Given the description of an element on the screen output the (x, y) to click on. 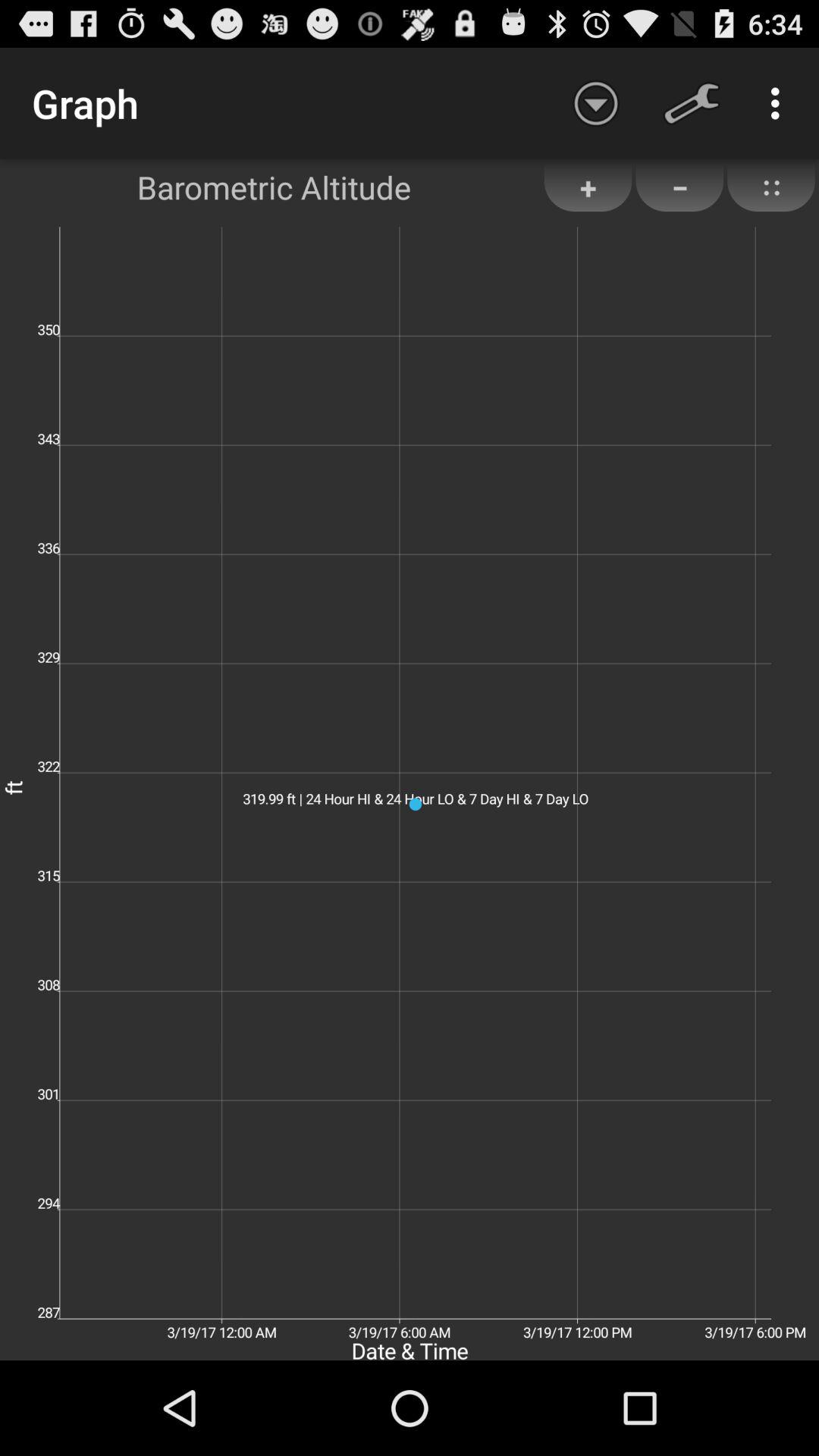
open the app to the right of barometric altitude (587, 187)
